Given the description of an element on the screen output the (x, y) to click on. 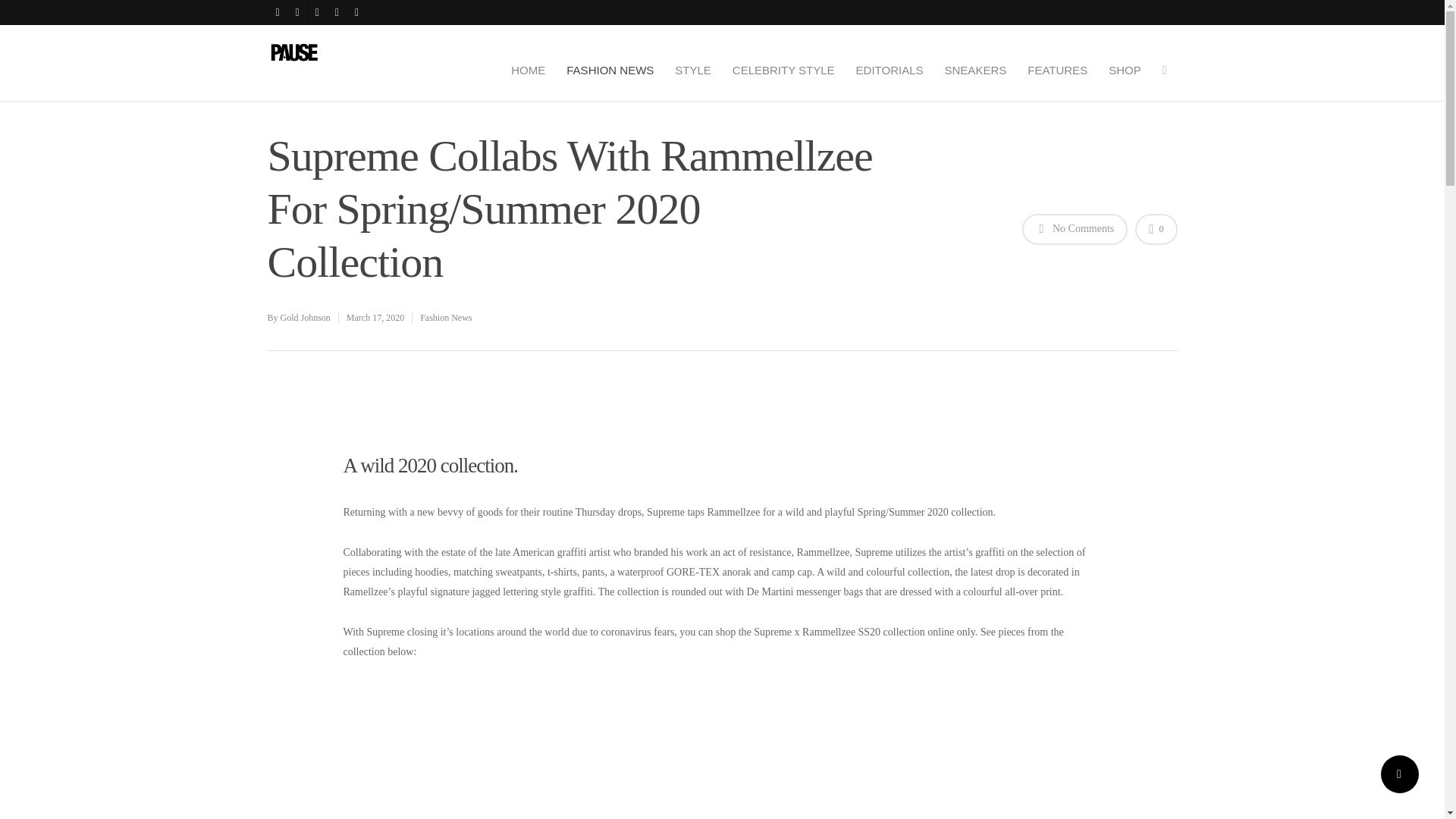
STYLE (692, 69)
HOME (528, 69)
Love this (1155, 228)
FASHION NEWS (609, 69)
Posts by Gold Johnson (305, 317)
